Given the description of an element on the screen output the (x, y) to click on. 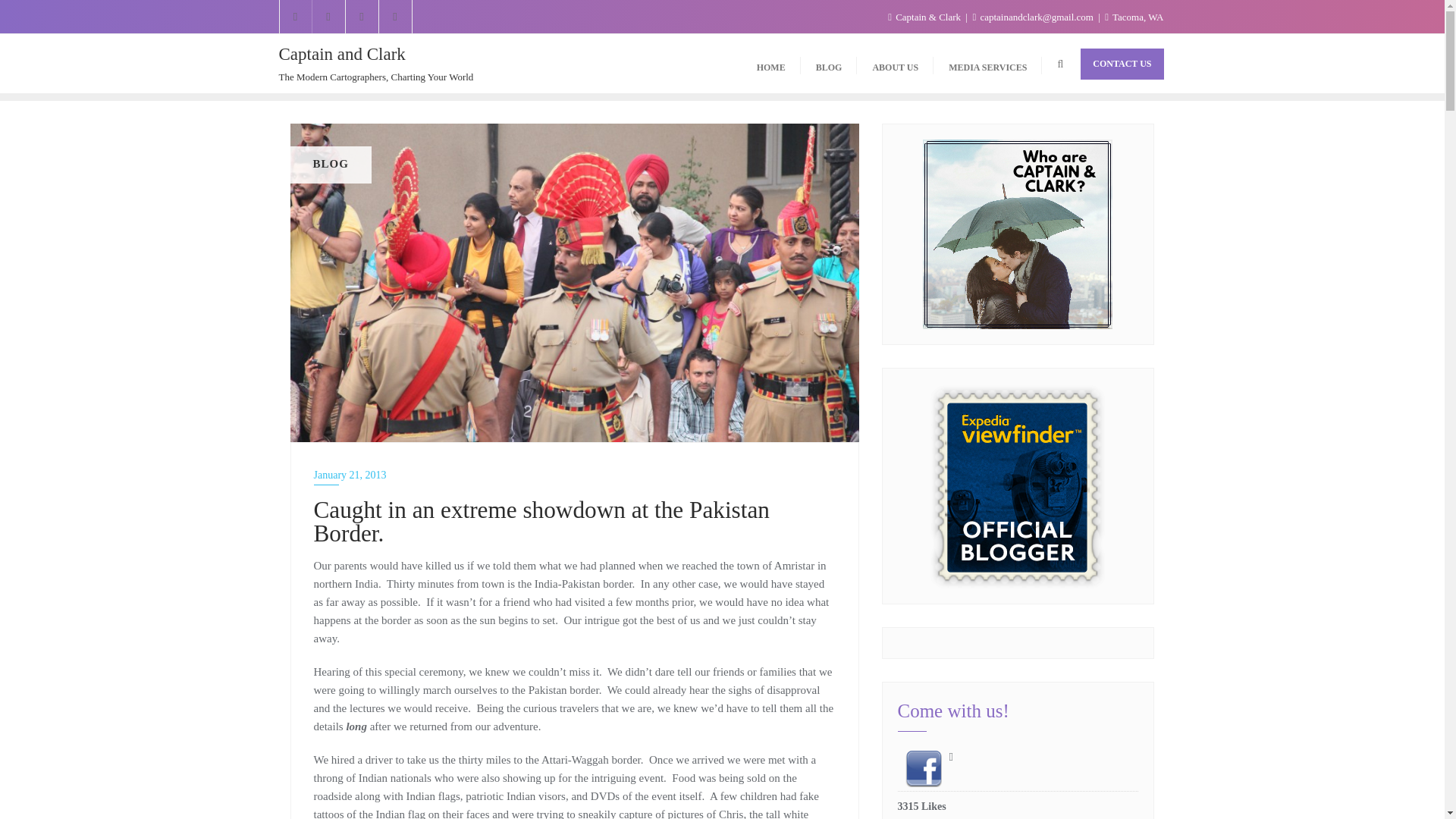
CONTACT US (1122, 63)
BLOG (828, 63)
January 21, 2013 (574, 475)
MEDIA SERVICES (987, 63)
ABOUT US (895, 63)
HOME (770, 63)
